Given the description of an element on the screen output the (x, y) to click on. 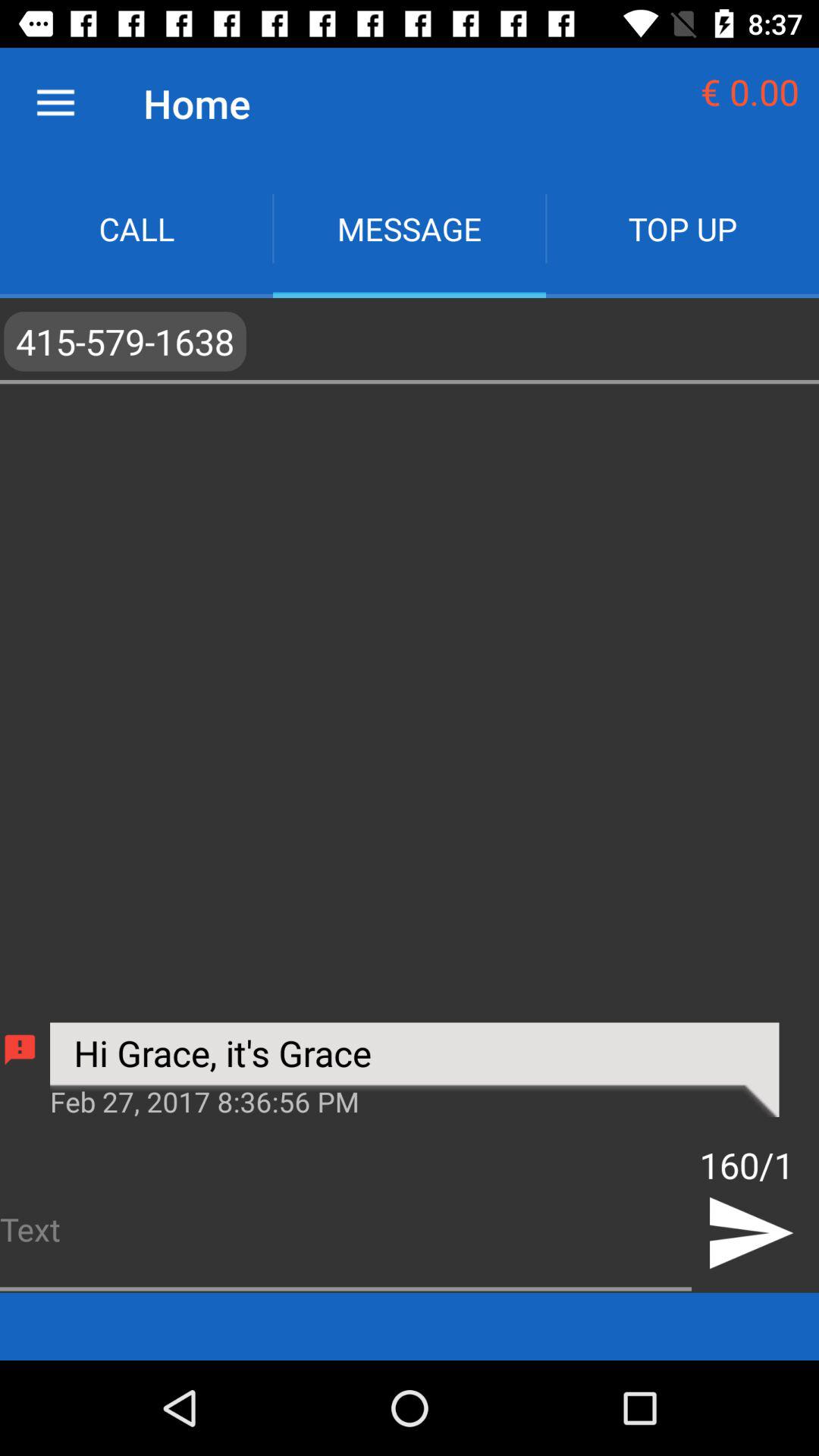
press call (136, 228)
